Given the description of an element on the screen output the (x, y) to click on. 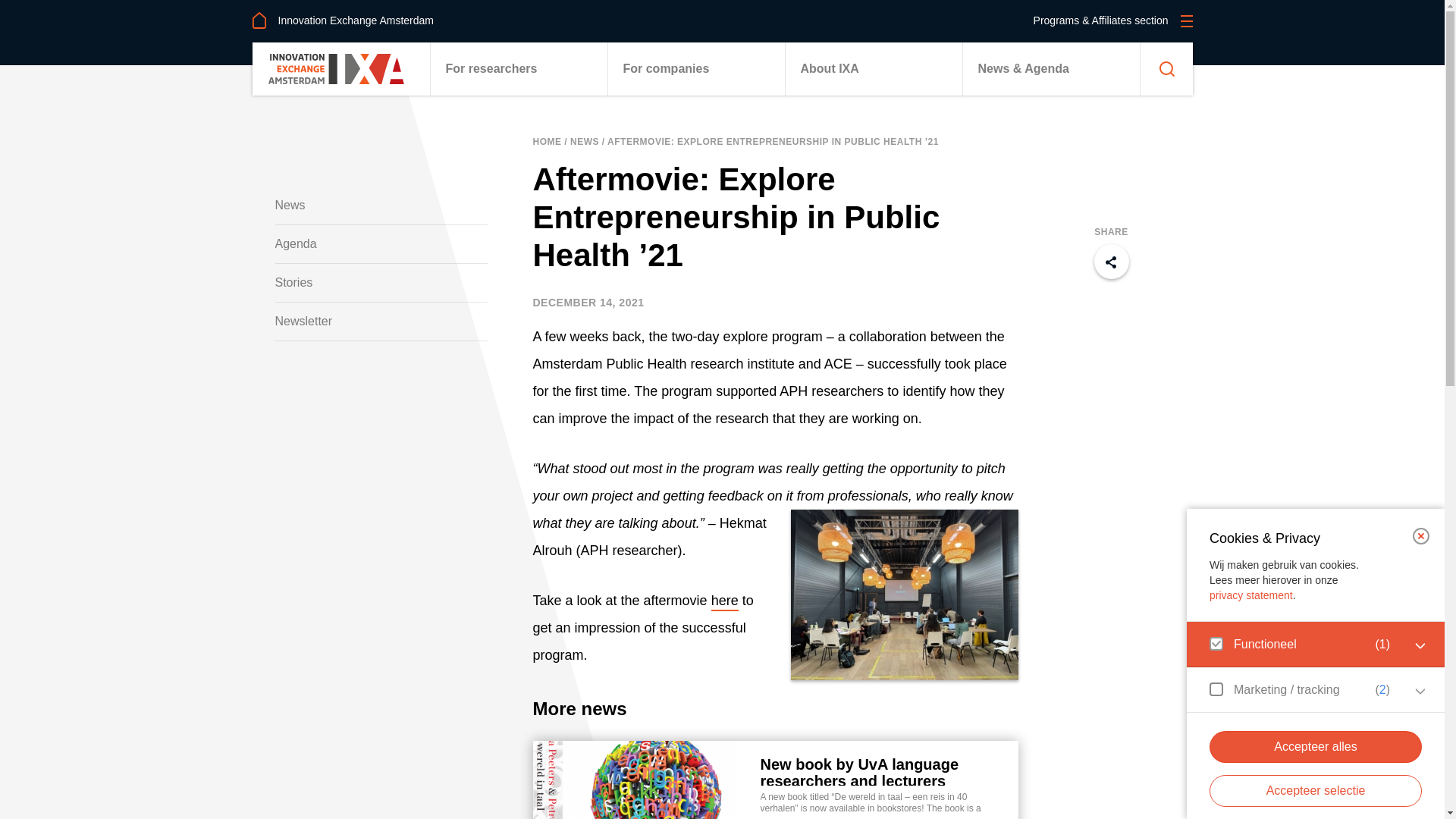
About IXA (872, 68)
For researchers (518, 68)
privacy statement (1250, 594)
Innovation Exchange Amsterdam (341, 20)
For companies (695, 68)
